Given the description of an element on the screen output the (x, y) to click on. 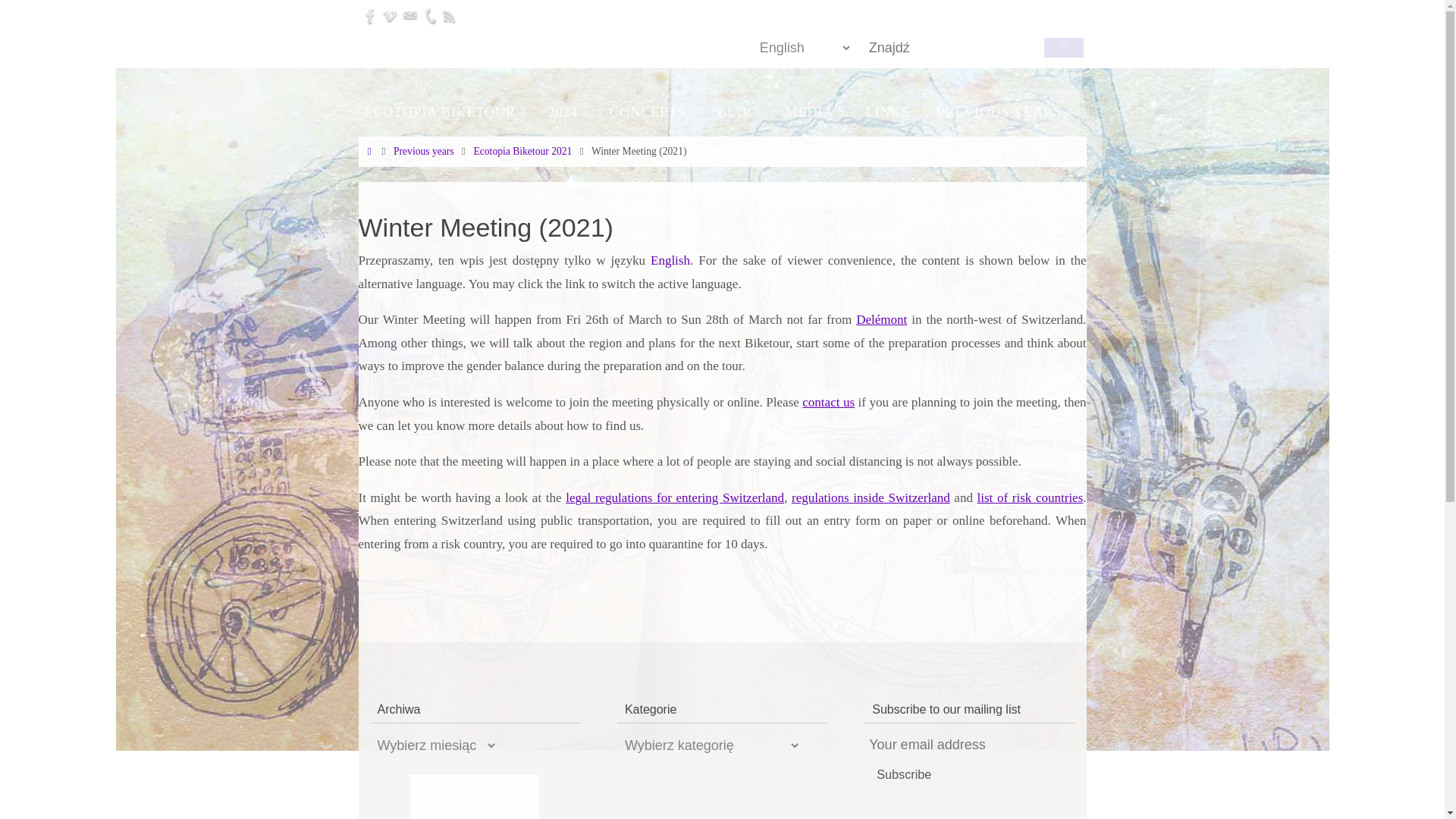
ECOTOPIA BIKETOUR (442, 112)
RSS (448, 15)
Vimeo (389, 15)
Phone (428, 15)
Subscribe (903, 774)
Mail (409, 15)
Facebook (369, 15)
Ecotopia Biketour (361, 43)
